Given the description of an element on the screen output the (x, y) to click on. 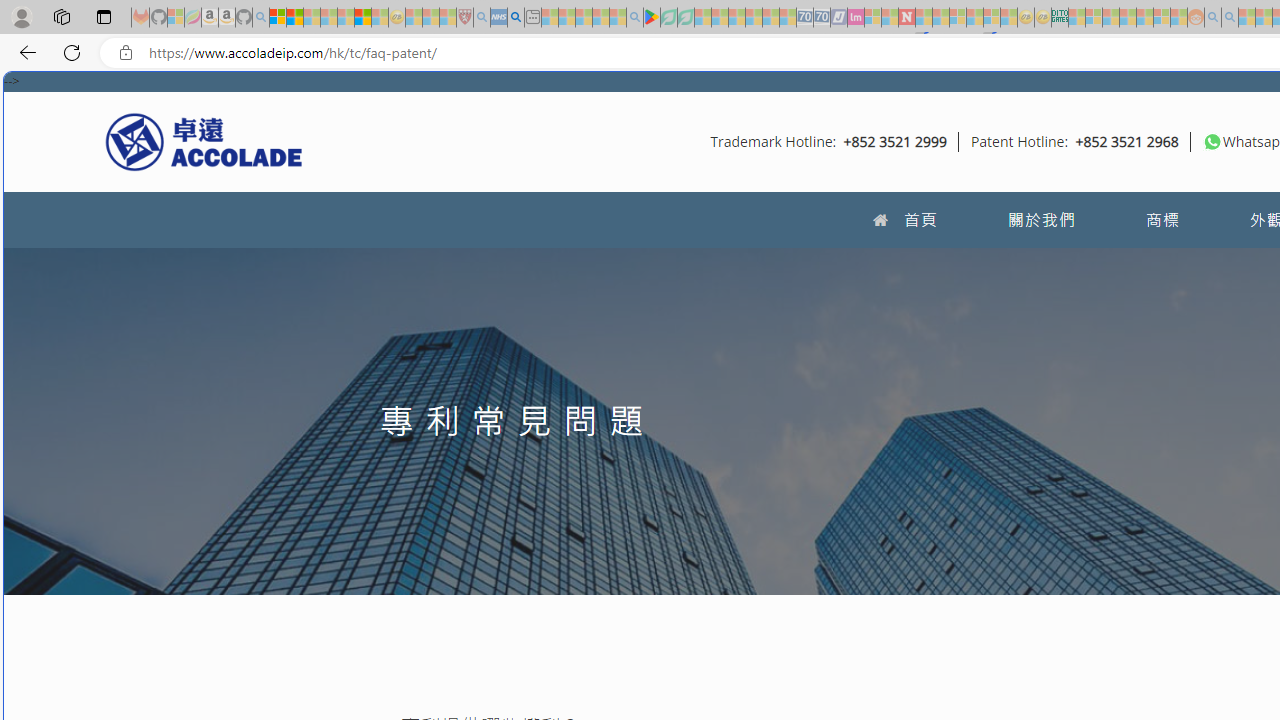
To get missing image descriptions, open the context menu. (1211, 141)
The Weather Channel - MSN - Sleeping (311, 17)
New tab - Sleeping (532, 17)
14 Common Myths Debunked By Scientific Facts - Sleeping (940, 17)
Pets - MSN - Sleeping (600, 17)
